Given the description of an element on the screen output the (x, y) to click on. 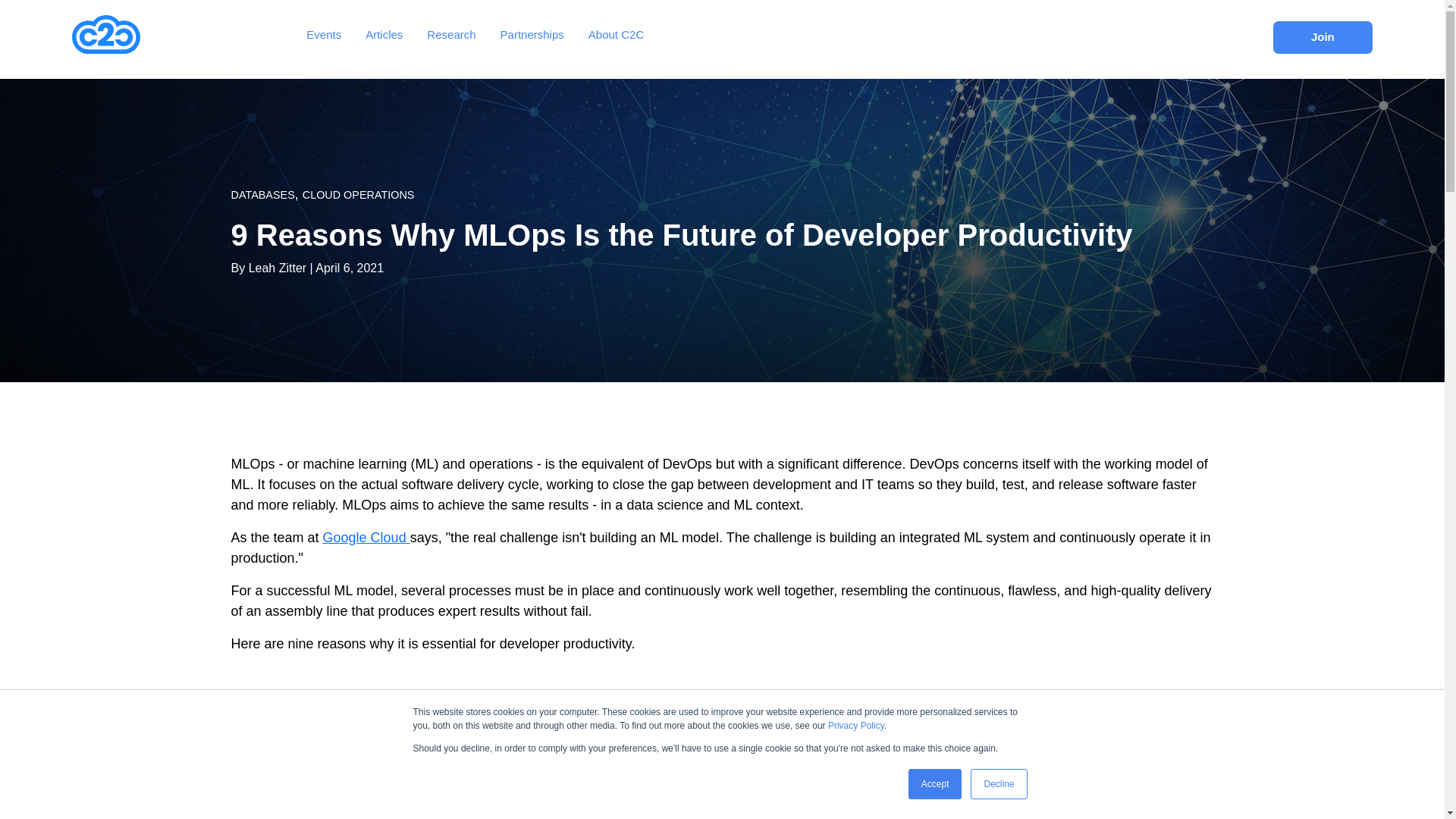
DATABASES (262, 193)
Articles (384, 33)
c2c logo blue (105, 34)
Privacy Policy (855, 725)
Events (322, 33)
Leah Zitter (276, 267)
Google Cloud (366, 537)
Partnerships (532, 33)
Join (1322, 37)
CLOUD OPERATIONS (358, 193)
